Given the description of an element on the screen output the (x, y) to click on. 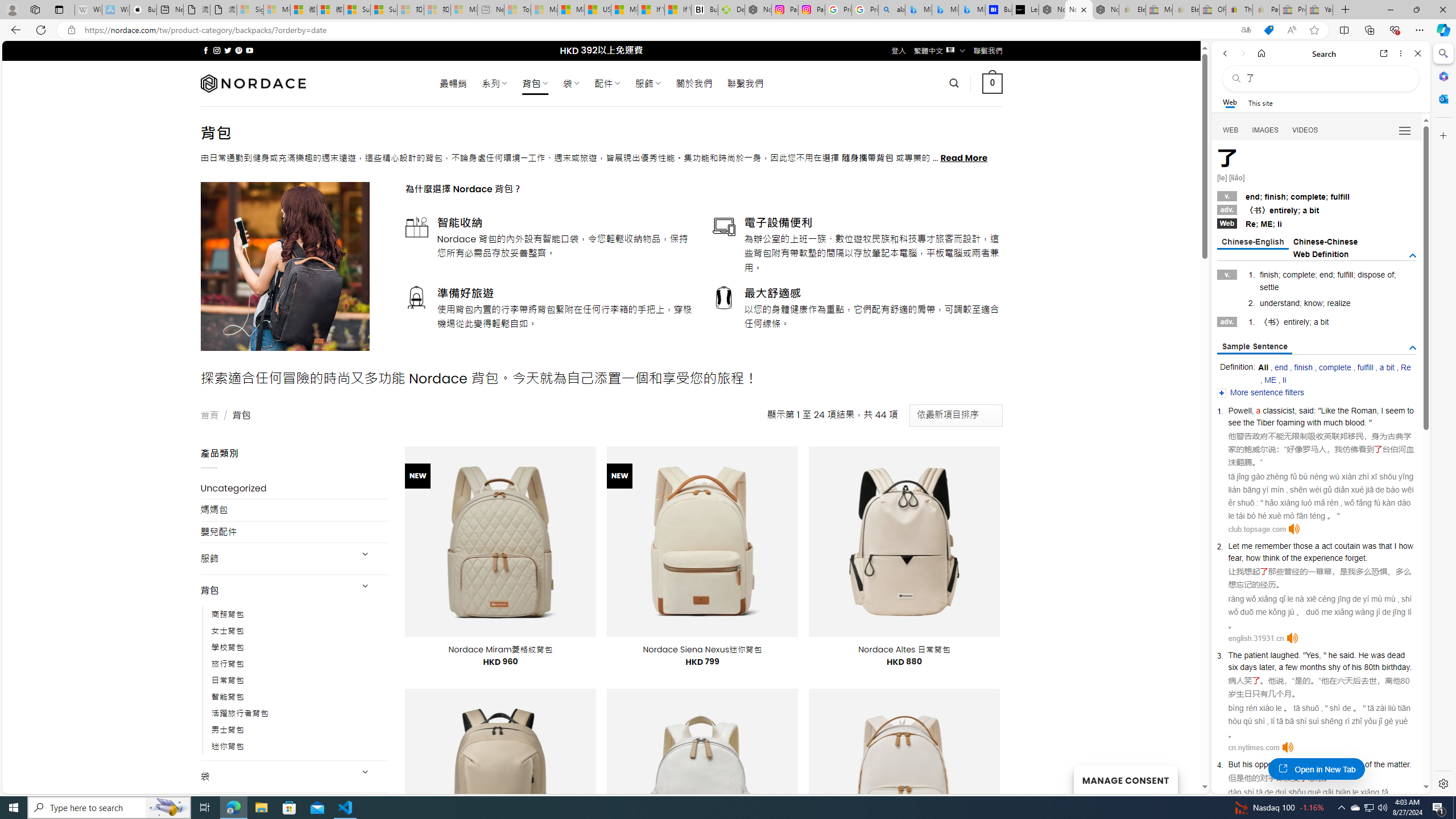
months (1313, 666)
forget (1355, 557)
six (1232, 666)
Microsoft Bing Travel - Shangri-La Hotel Bangkok (971, 9)
fear (1234, 557)
club.topsage.com (1257, 528)
WEB (1231, 130)
